Given the description of an element on the screen output the (x, y) to click on. 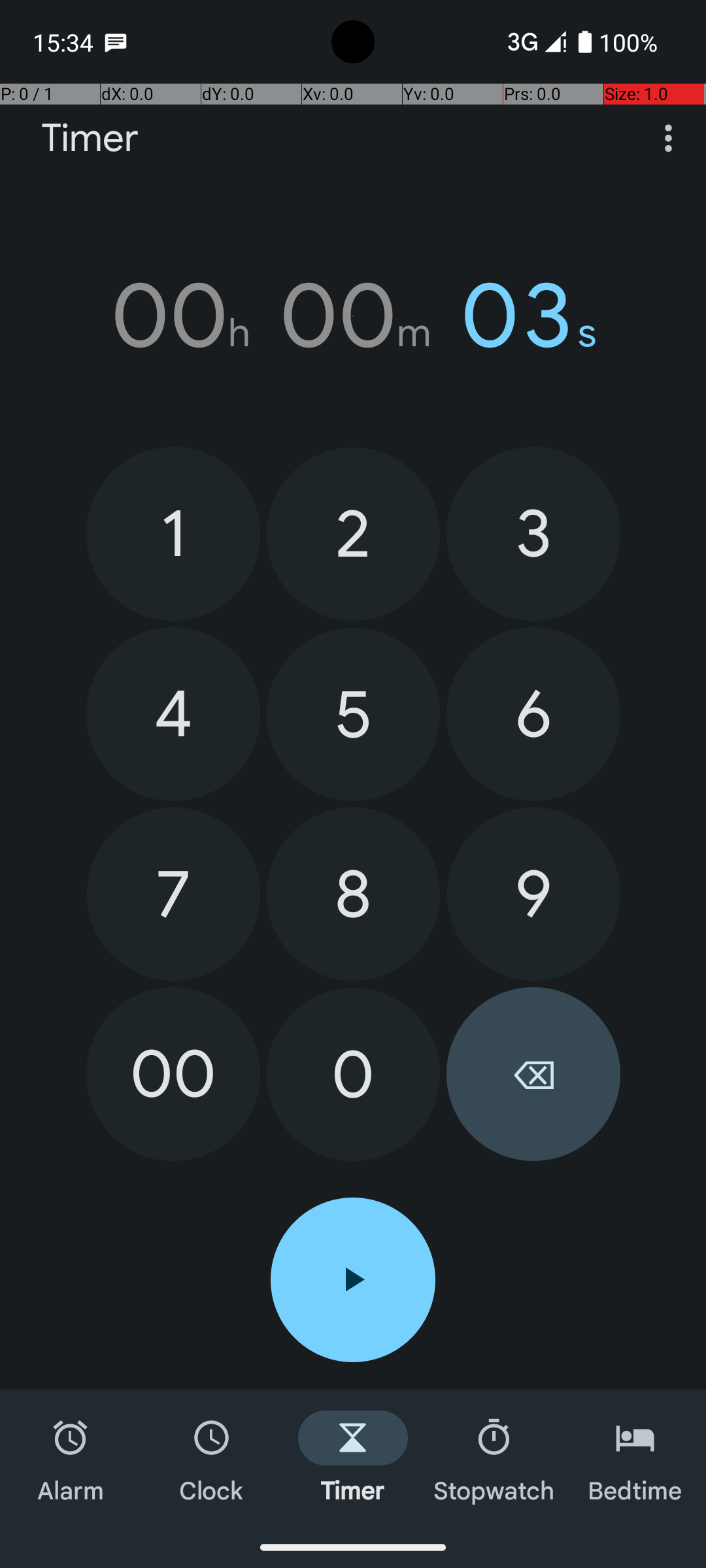
00h 00m 03s Element type: android.widget.TextView (353, 315)
